Given the description of an element on the screen output the (x, y) to click on. 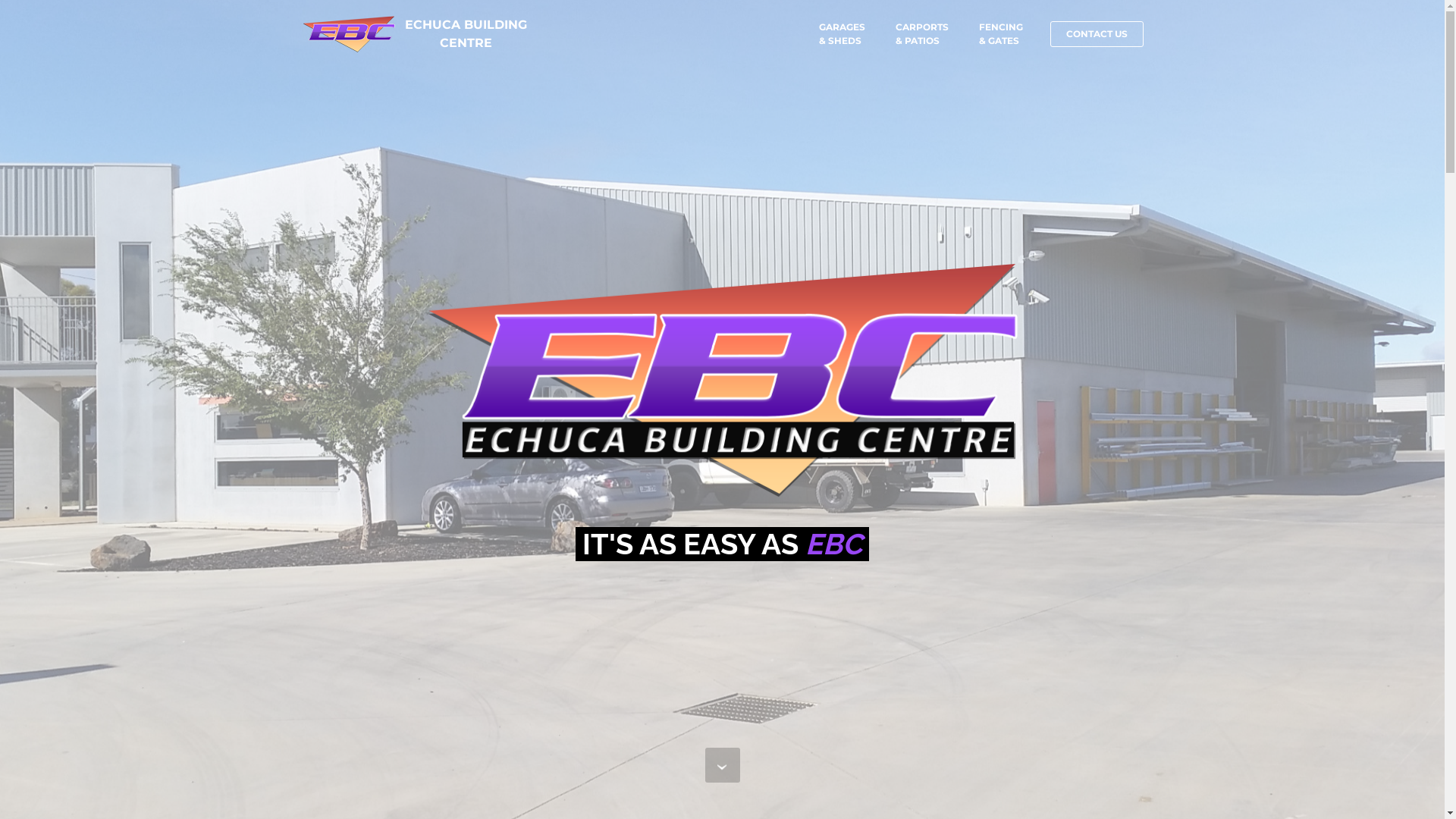
FENCING
& GATES Element type: text (1000, 33)
ECHUCA BUILDING
CENTRE Element type: text (465, 33)
CONTACT US Element type: text (1095, 34)
GARAGES
& SHEDS Element type: text (842, 33)
CARPORTS
& PATIOS Element type: text (920, 33)
